Given the description of an element on the screen output the (x, y) to click on. 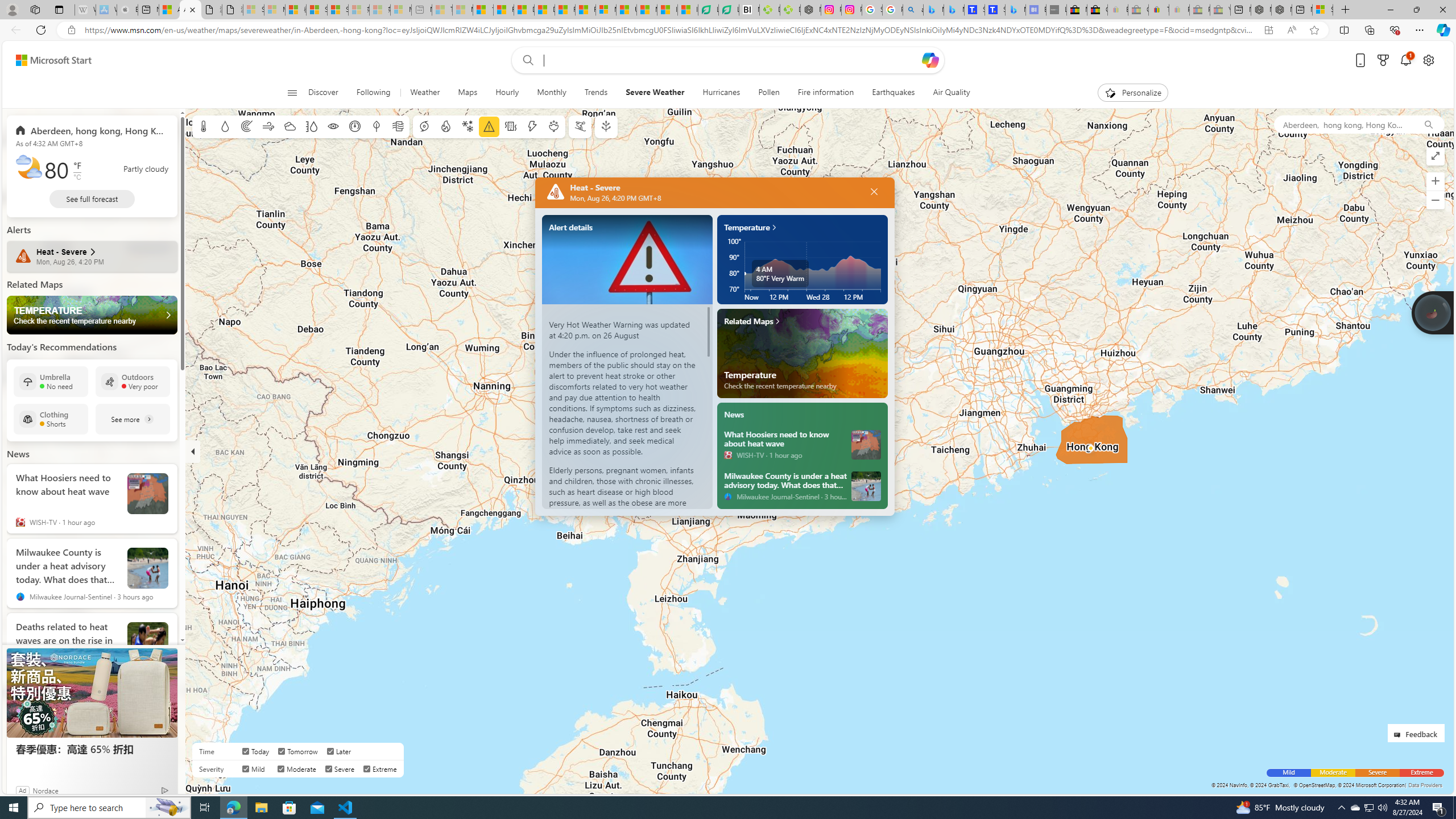
Heat - Severe Mon, Aug 26, 4:20 PM (92, 255)
Marine life - MSN - Sleeping (461, 9)
Fire information (445, 126)
US Heat Deaths Soared To Record High Last Year (626, 9)
What Hoosiers need to know about heat wave (785, 438)
Precipitation (225, 126)
Severe Weather (654, 92)
Press Room - eBay Inc. - Sleeping (1199, 9)
Milwaukee Journal-Sentinel (727, 496)
Radar (246, 126)
